Given the description of an element on the screen output the (x, y) to click on. 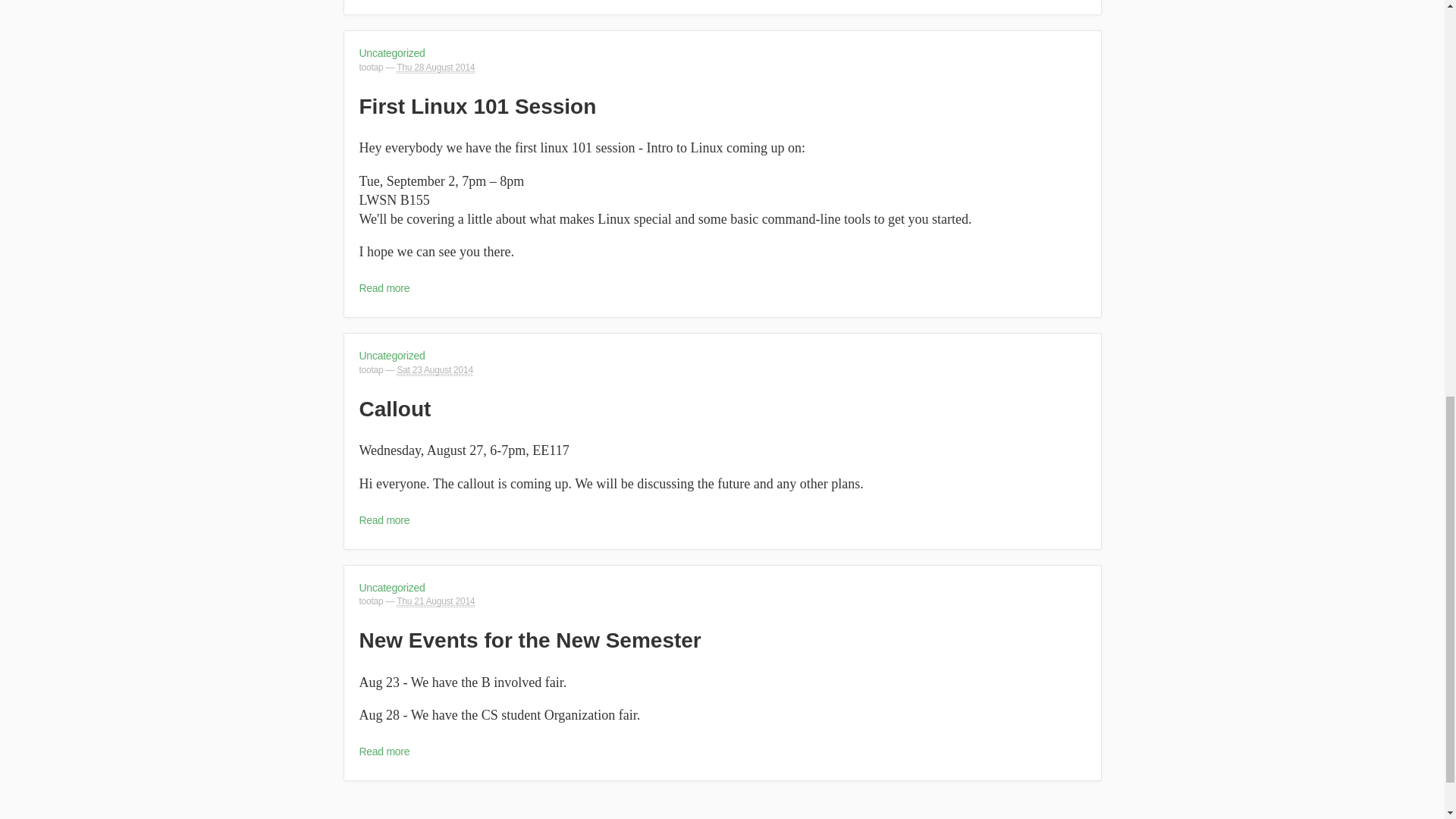
2014-08-23T16:47:00-04:00 (433, 369)
Permalink to First Linux 101 Session (477, 106)
tootap (371, 601)
Uncategorized (392, 52)
2014-08-28T22:30:00-04:00 (435, 67)
Permalink to New Events for the New Semester (530, 639)
Callout (394, 408)
Read more (384, 751)
New Events for the New Semester (530, 639)
tootap (371, 369)
Uncategorized (392, 587)
tootap (371, 67)
Read more (384, 287)
2014-08-21T12:19:00-04:00 (435, 601)
Permalink to Callout (394, 408)
